Given the description of an element on the screen output the (x, y) to click on. 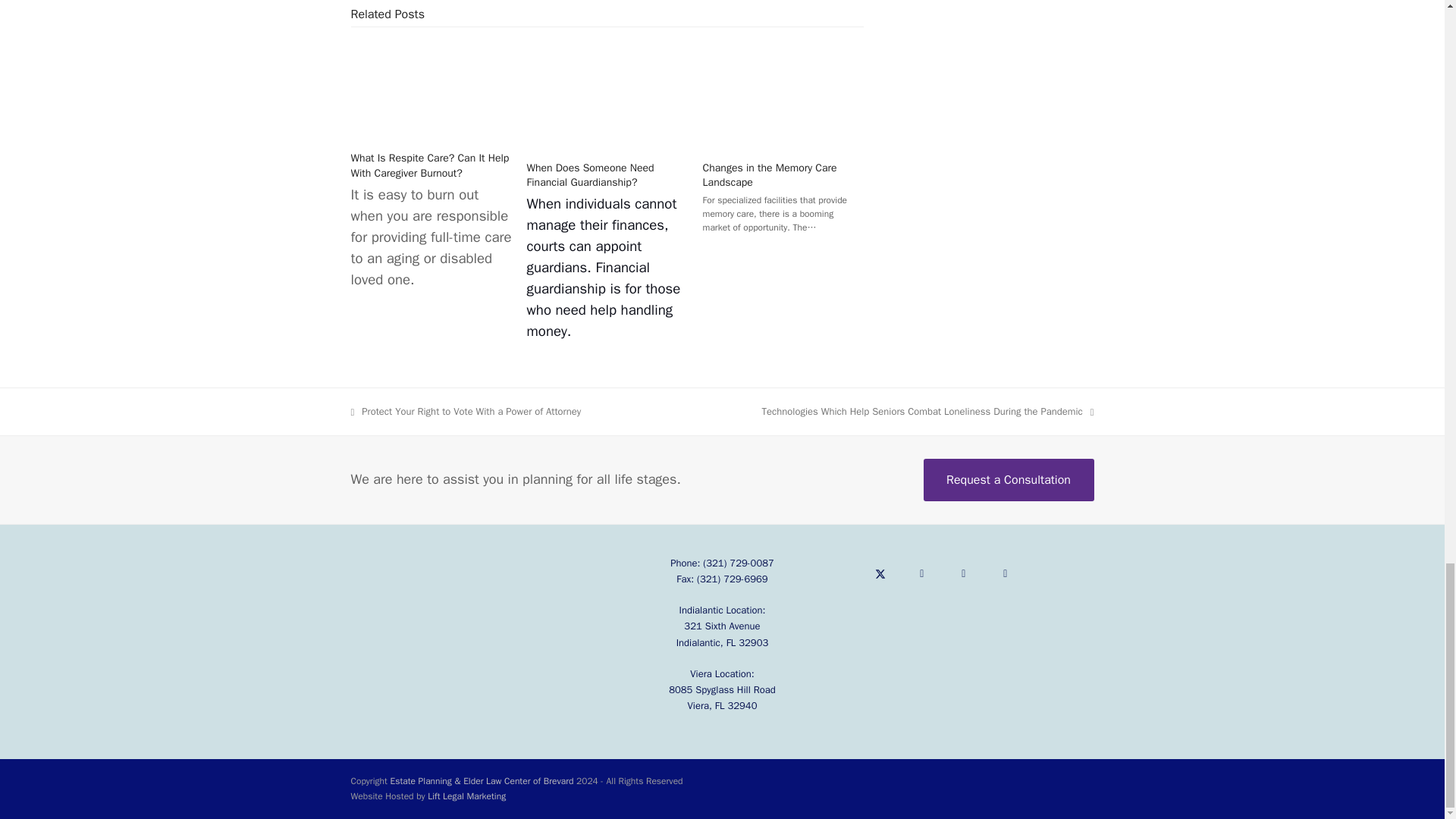
Changes in the Memory Care Landscape (783, 94)
When Does Someone Need Financial Guardianship? (607, 94)
LinkedIn (963, 573)
What Is Respite Care? Can It Help With Caregiver Burnout? (430, 89)
Facebook (921, 573)
YouTube (1006, 573)
